Given the description of an element on the screen output the (x, y) to click on. 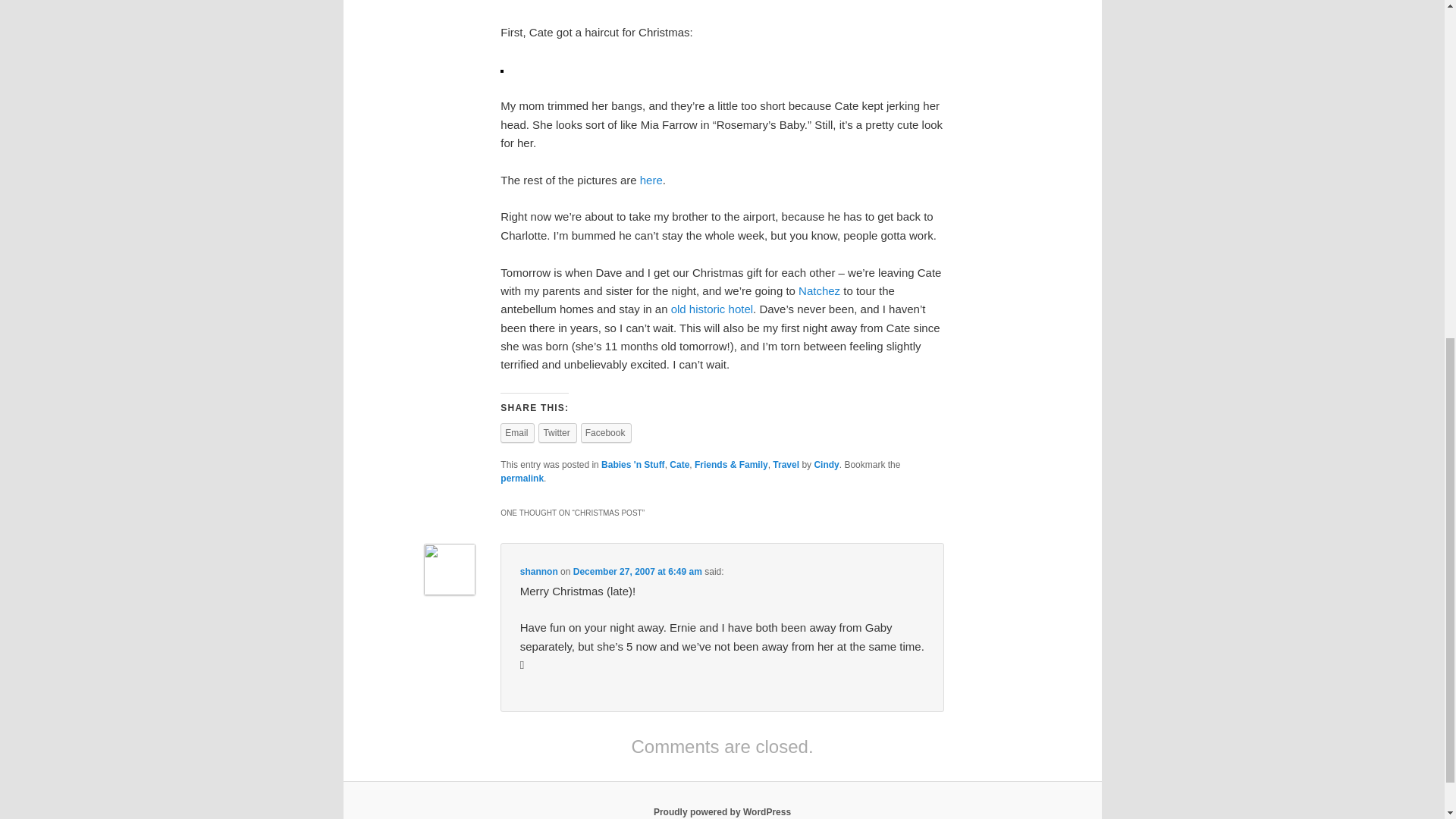
Facebook (605, 433)
Email (517, 433)
December 27, 2007 at 6:49 am (637, 571)
Click to share on Twitter (557, 433)
permalink (521, 478)
old historic hotel (711, 308)
Travel (786, 464)
Cate (678, 464)
Click to share on Facebook (605, 433)
Babies 'n Stuff (633, 464)
